Given the description of an element on the screen output the (x, y) to click on. 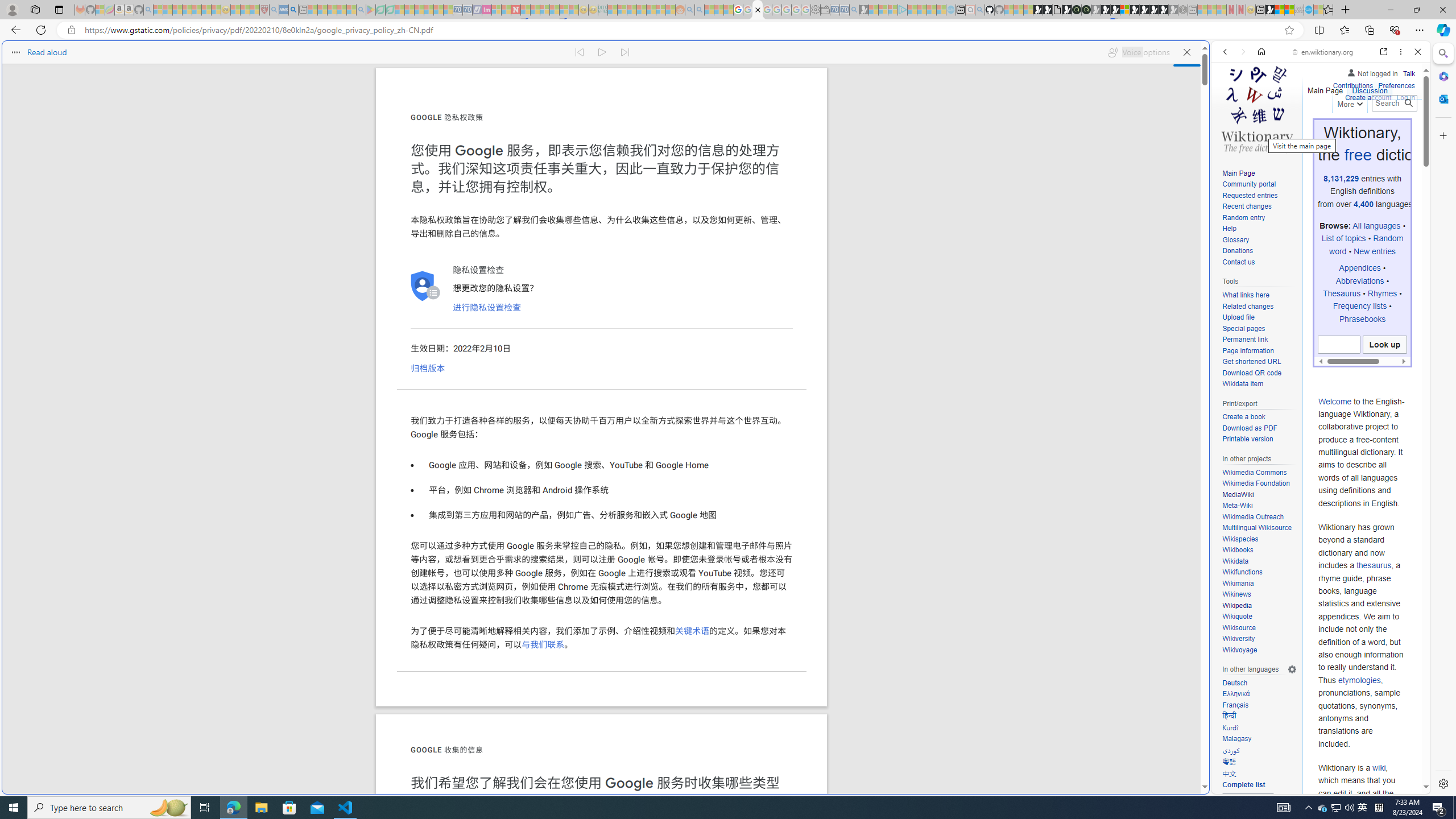
Related changes (1259, 306)
Look up (1384, 344)
Download QR code (1259, 373)
Permanent link (1259, 339)
Wikisource (1259, 627)
Bluey: Let's Play! - Apps on Google Play - Sleeping (370, 9)
Read previous paragraph (579, 52)
